Given the description of an element on the screen output the (x, y) to click on. 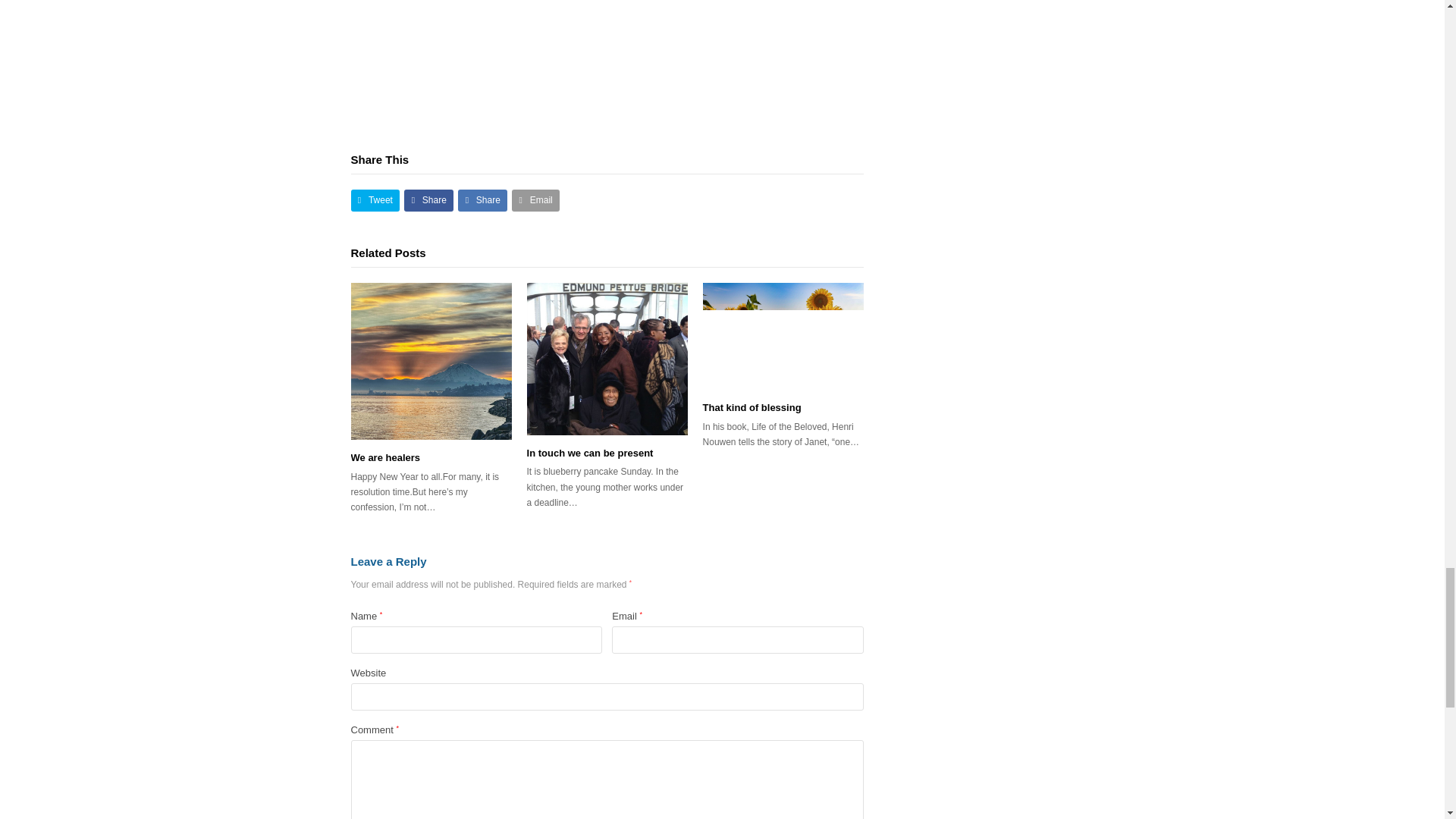
We are healers (385, 457)
Tweet (374, 200)
That kind of blessing (752, 407)
Share (428, 200)
In touch we can be present (590, 452)
We are healers (430, 360)
Share (482, 200)
That kind of blessing (783, 335)
In touch we can be present (607, 358)
Email (535, 200)
